Given the description of an element on the screen output the (x, y) to click on. 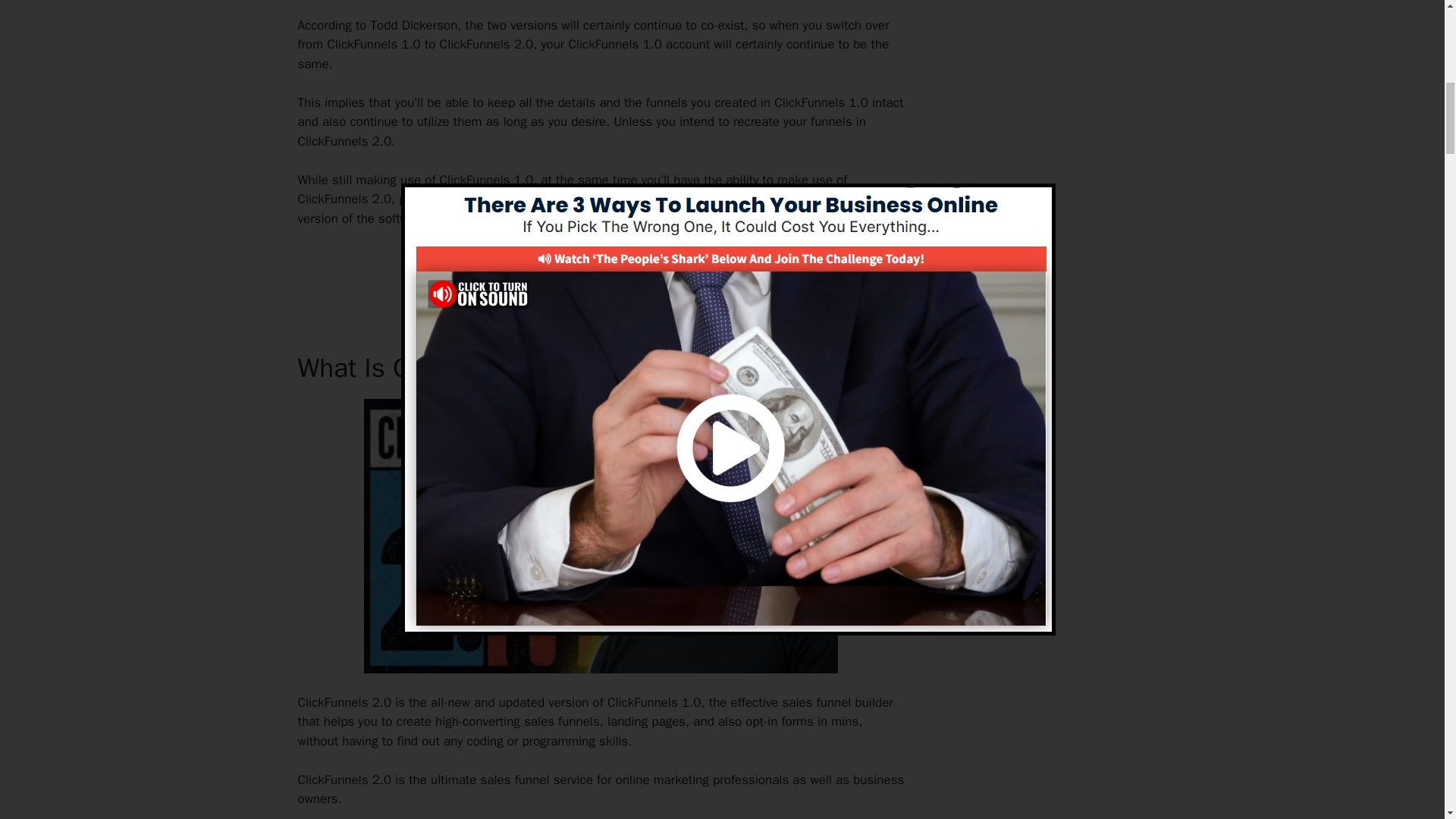
Click Here To Learn More On CF.2.0 (601, 270)
